Given the description of an element on the screen output the (x, y) to click on. 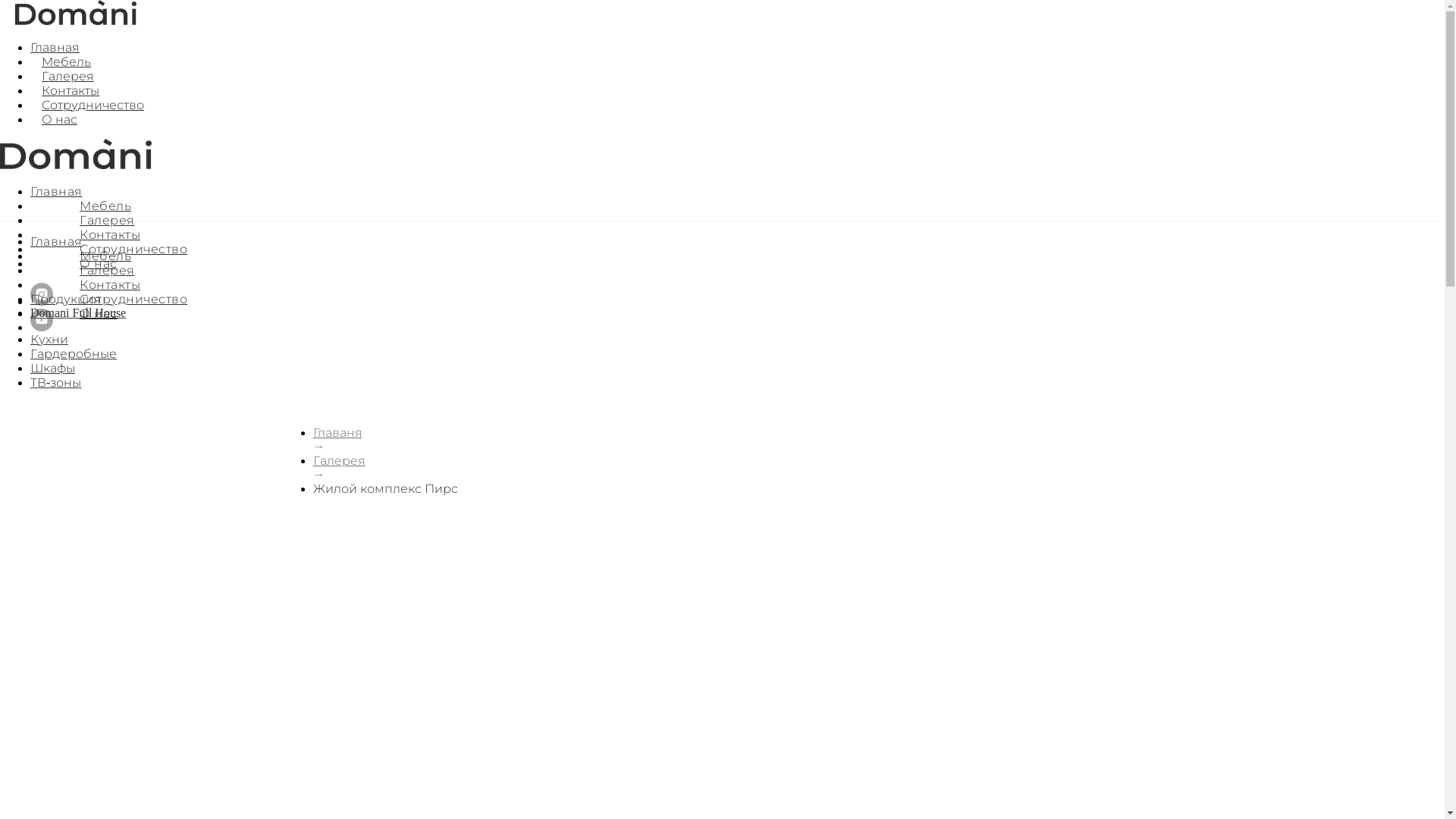
Domani Full House Element type: text (77, 312)
